Given the description of an element on the screen output the (x, y) to click on. 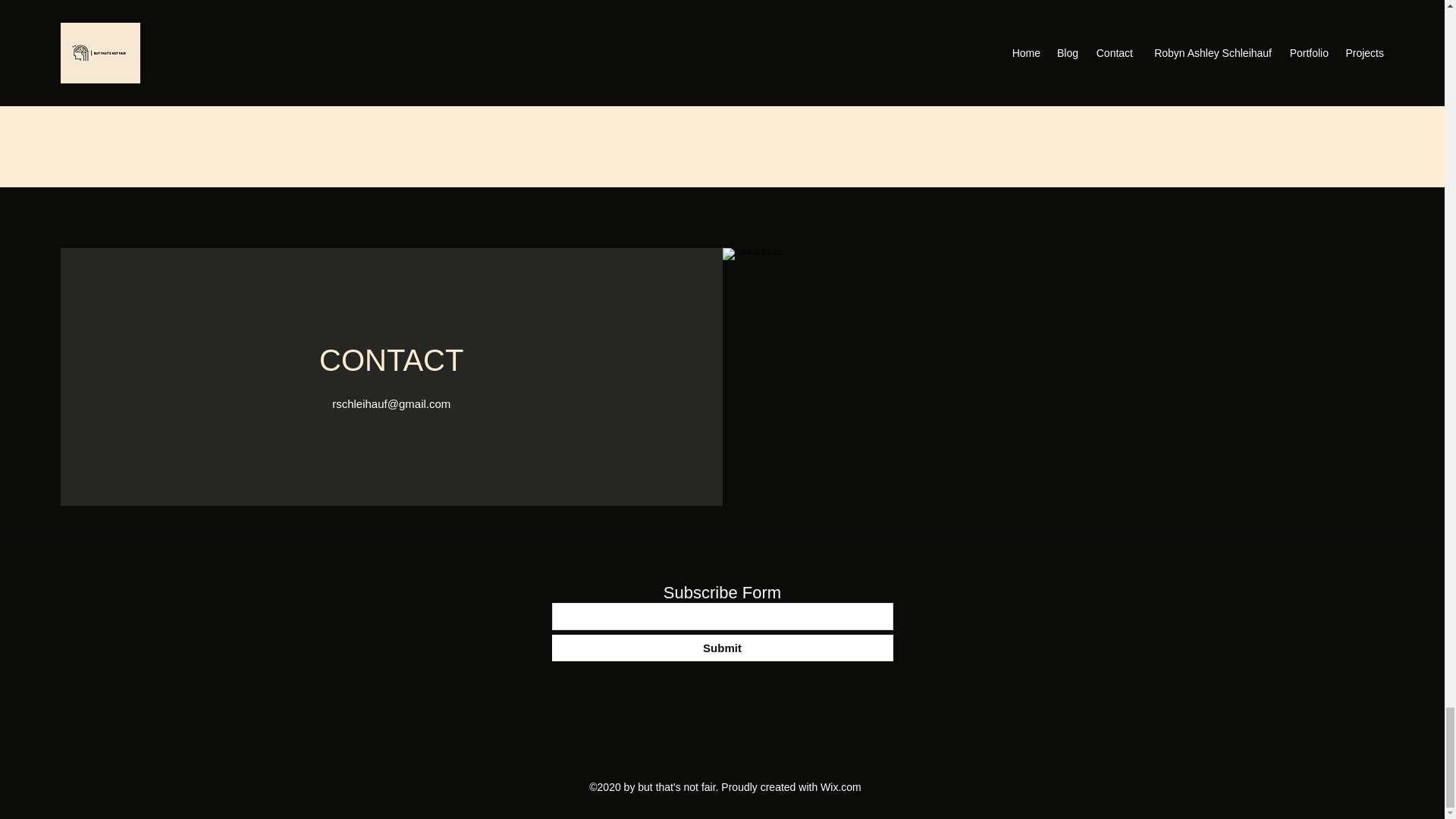
Law Practice (721, 71)
Submit (722, 647)
